Given the description of an element on the screen output the (x, y) to click on. 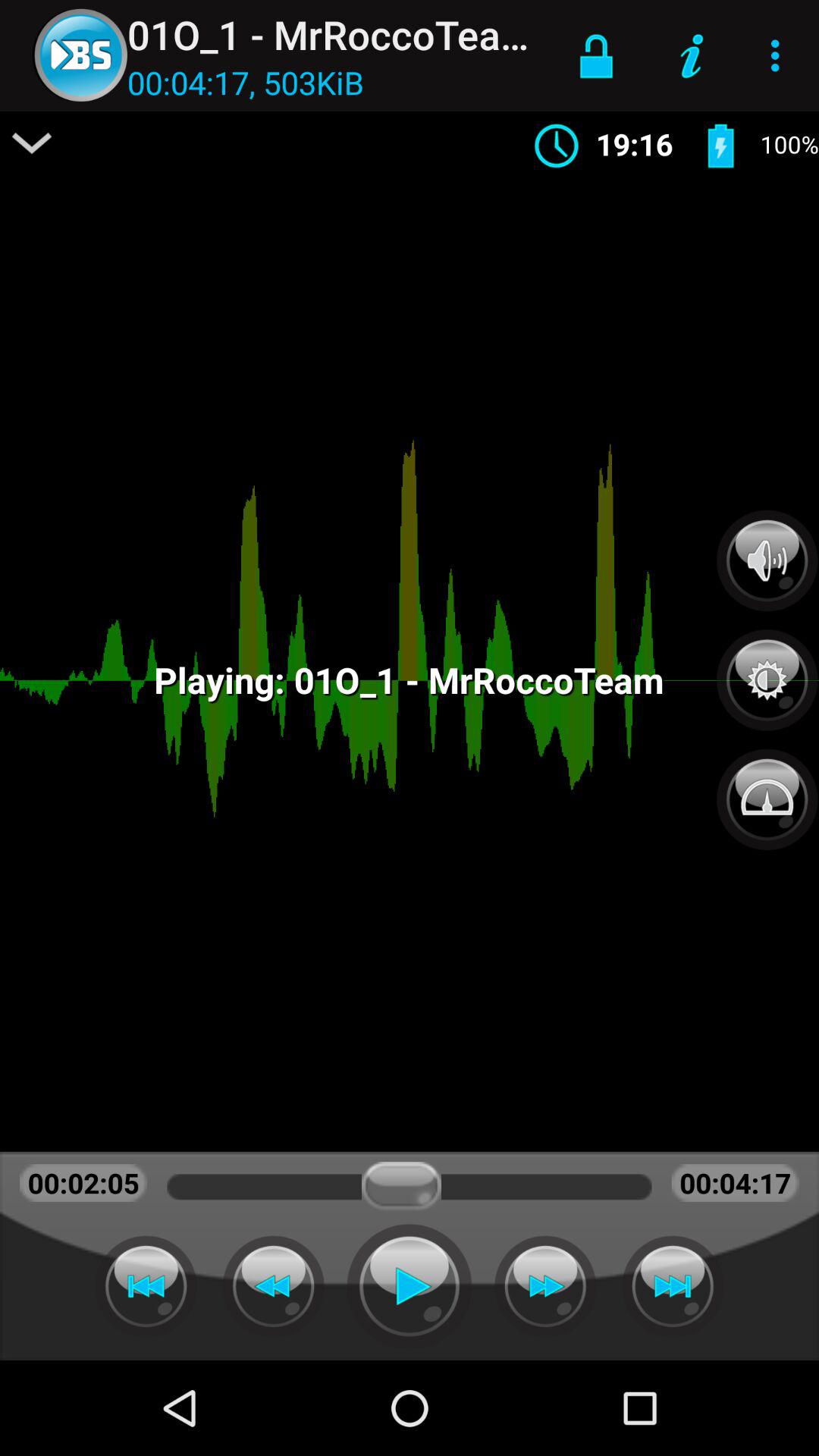
turn on item above 00:02:05 icon (31, 143)
